Given the description of an element on the screen output the (x, y) to click on. 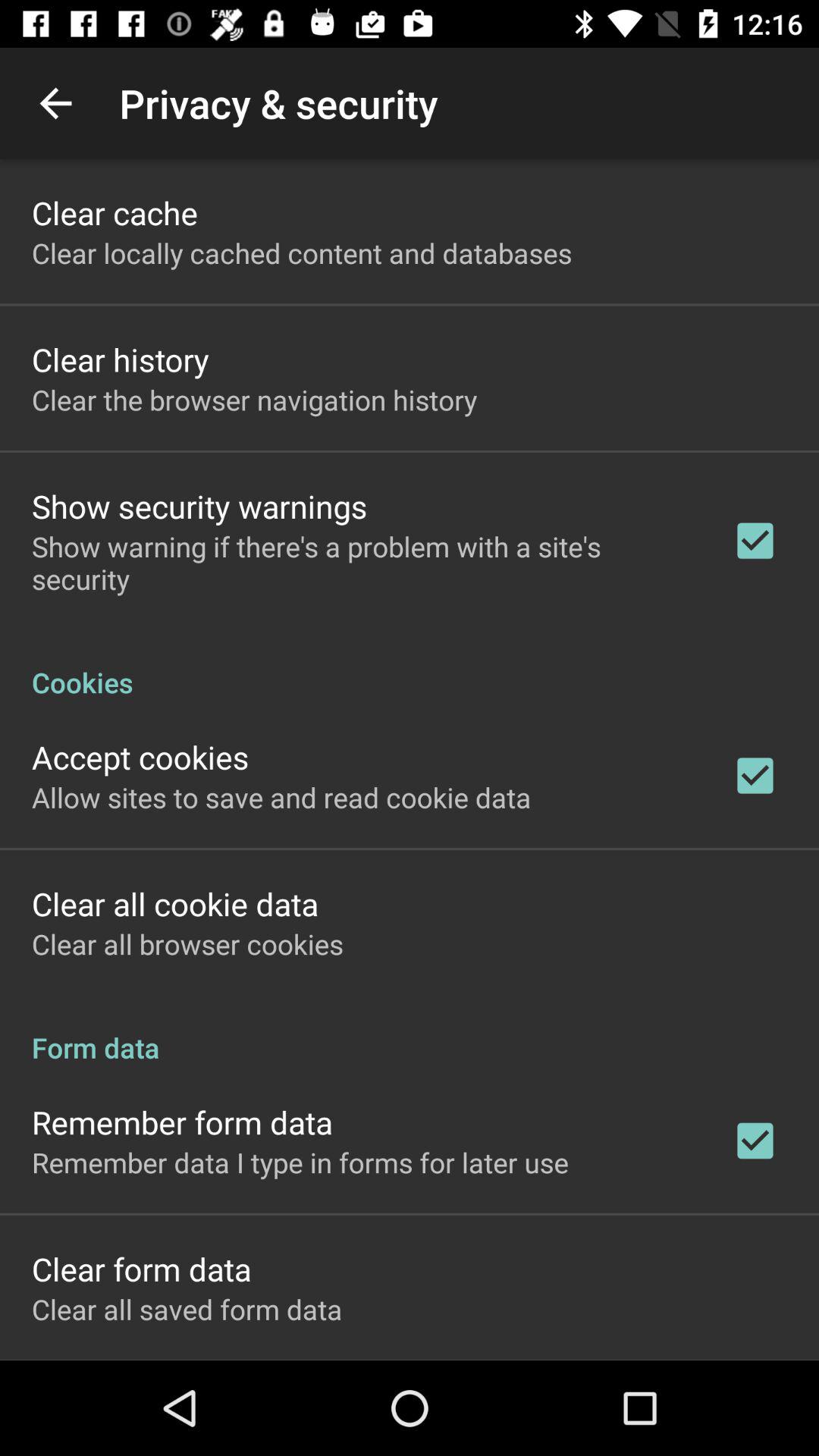
turn on app next to the privacy & security item (55, 103)
